Given the description of an element on the screen output the (x, y) to click on. 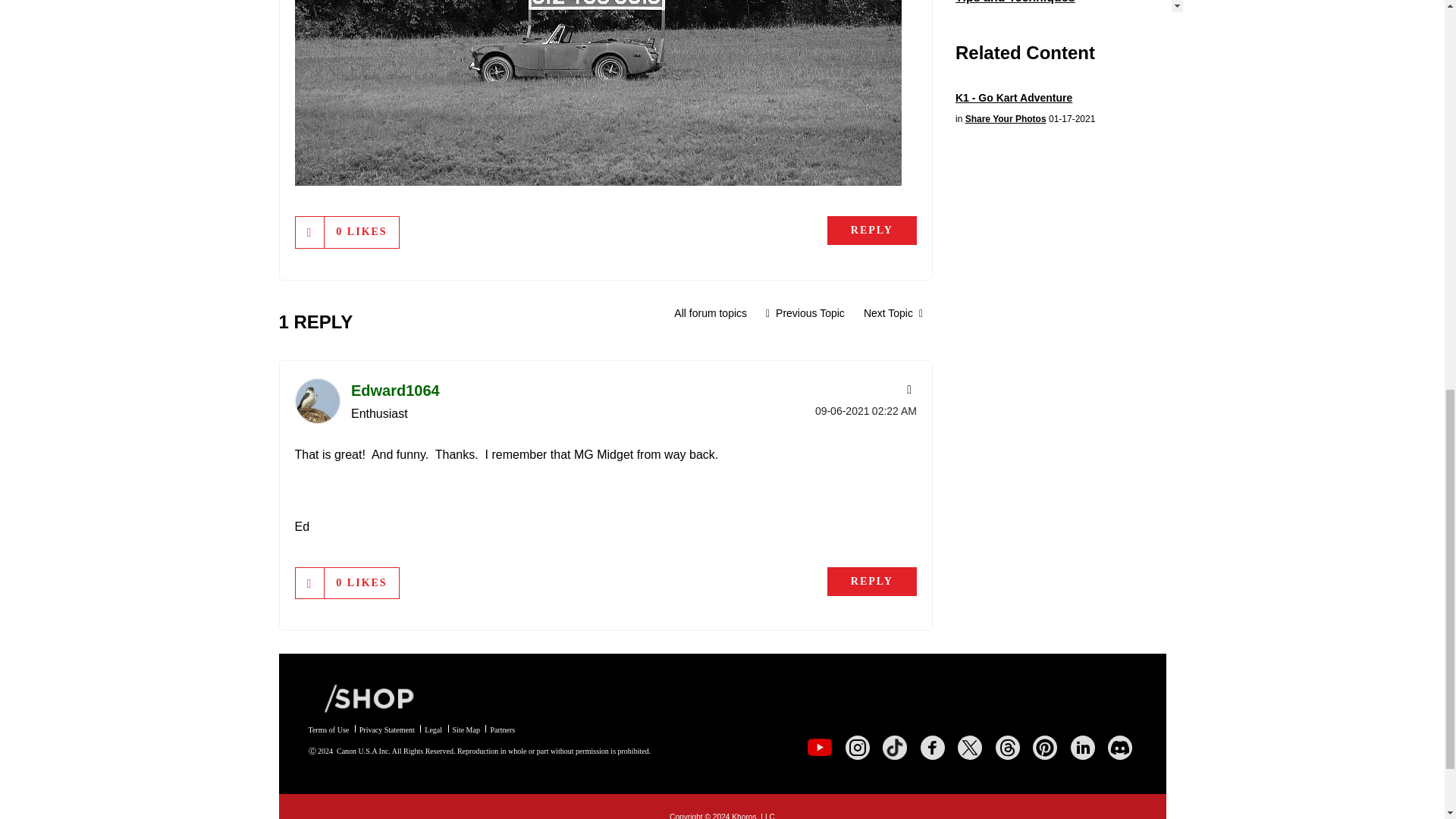
The total number of likes this post has received. (360, 231)
Click here to give likes to this post. (309, 232)
